Given the description of an element on the screen output the (x, y) to click on. 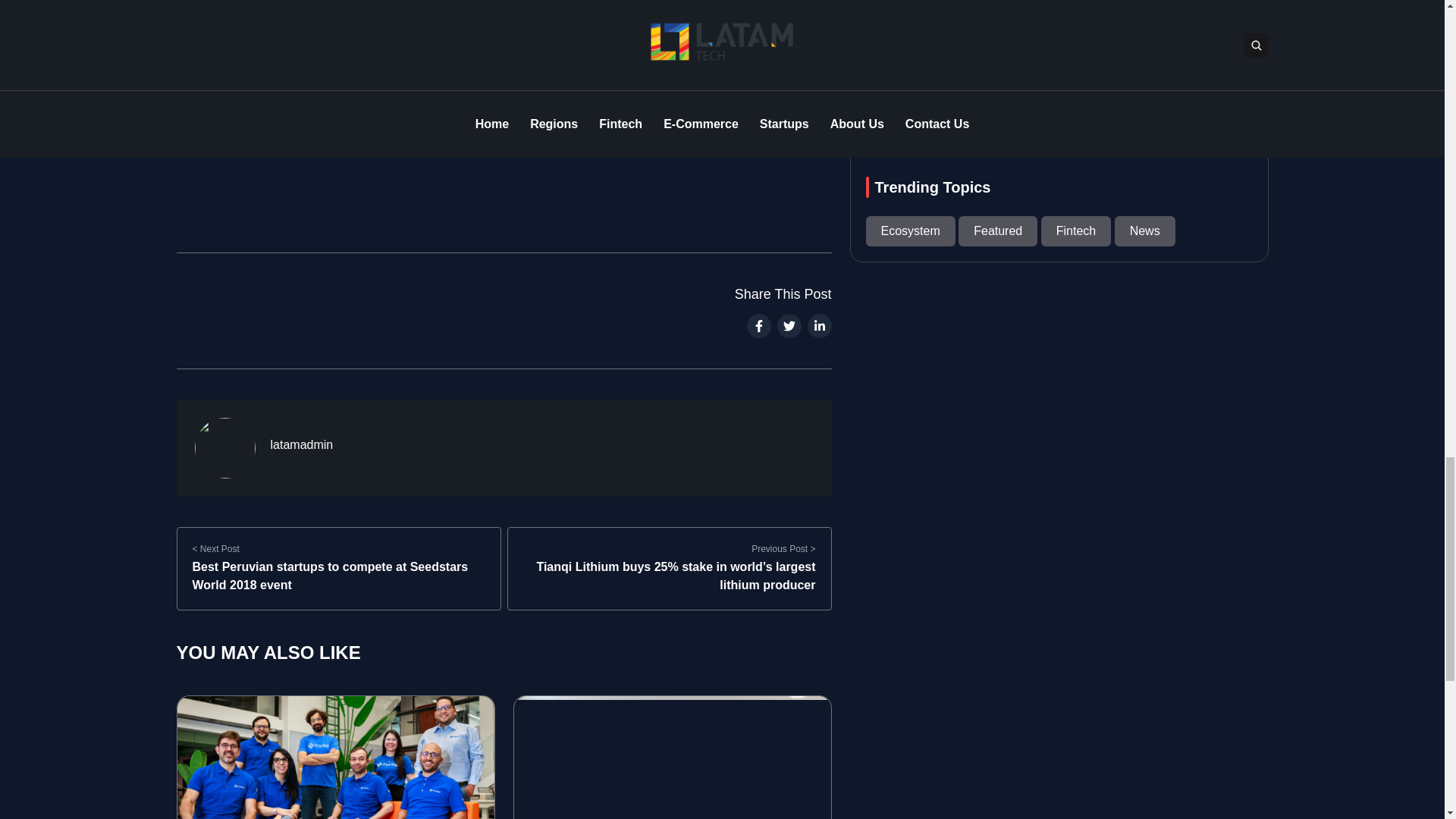
latamadmin (301, 444)
